Given the description of an element on the screen output the (x, y) to click on. 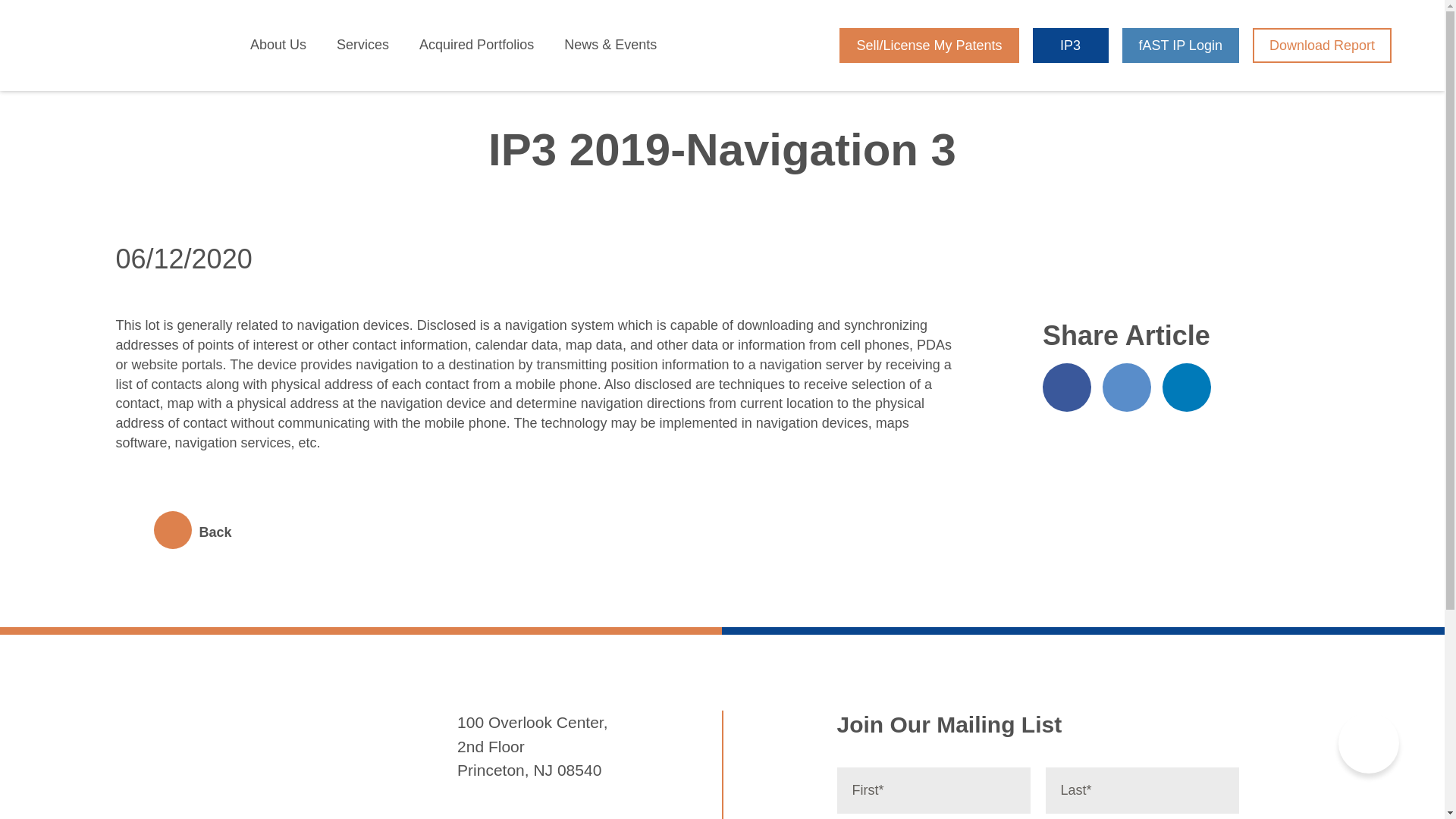
fAST IP Login (1180, 45)
IP3 (1070, 45)
Back (173, 532)
About Us (277, 45)
Download Report (1321, 45)
Acquired Portfolios (476, 45)
Send (1209, 734)
Services (362, 45)
